Given the description of an element on the screen output the (x, y) to click on. 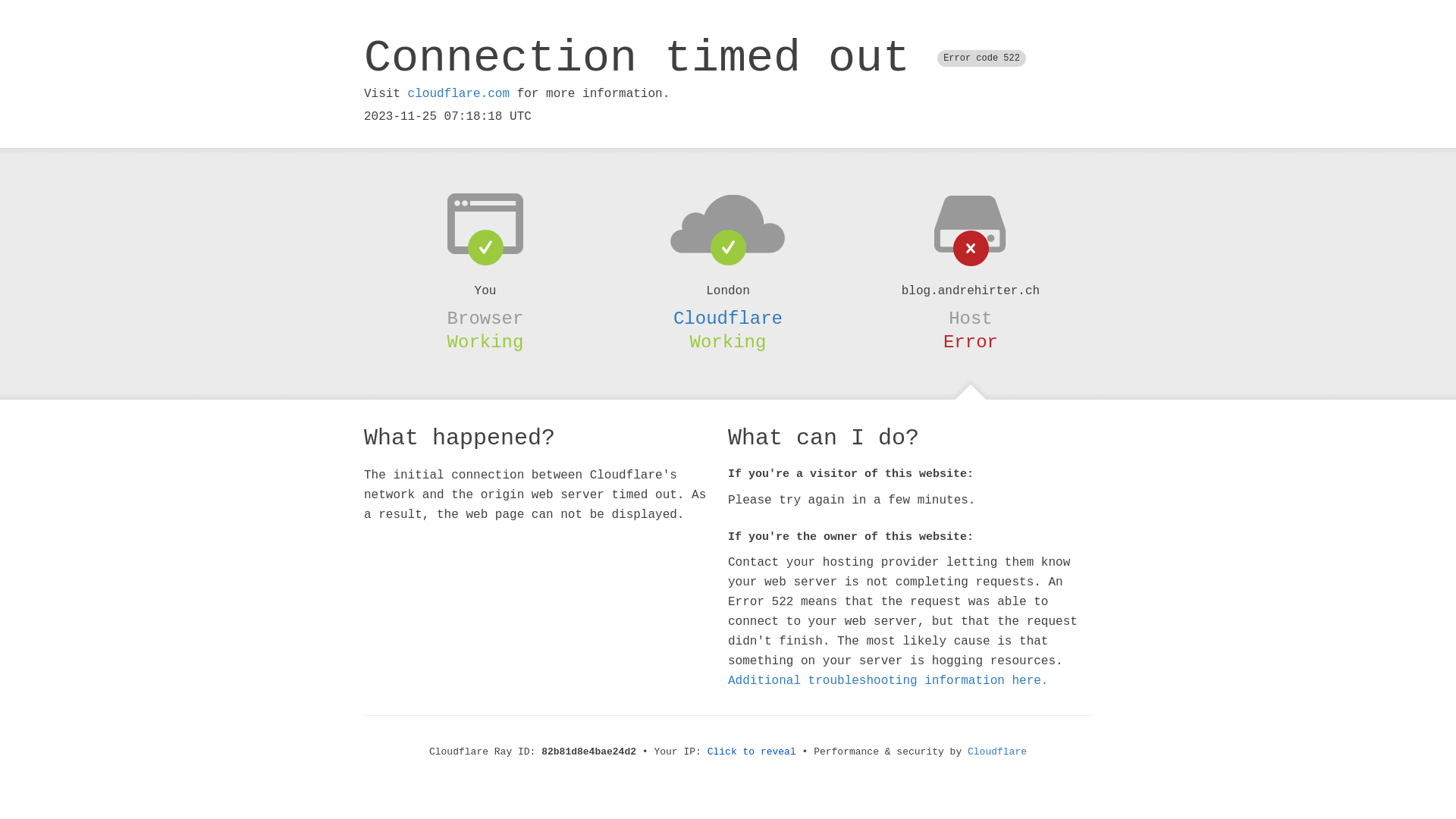
Cloudflare Element type: text (996, 751)
Additional troubleshooting information here. Element type: text (888, 680)
cloudflare.com Element type: text (458, 93)
Cloudflare Element type: text (727, 318)
Click to reveal Element type: text (751, 751)
